Given the description of an element on the screen output the (x, y) to click on. 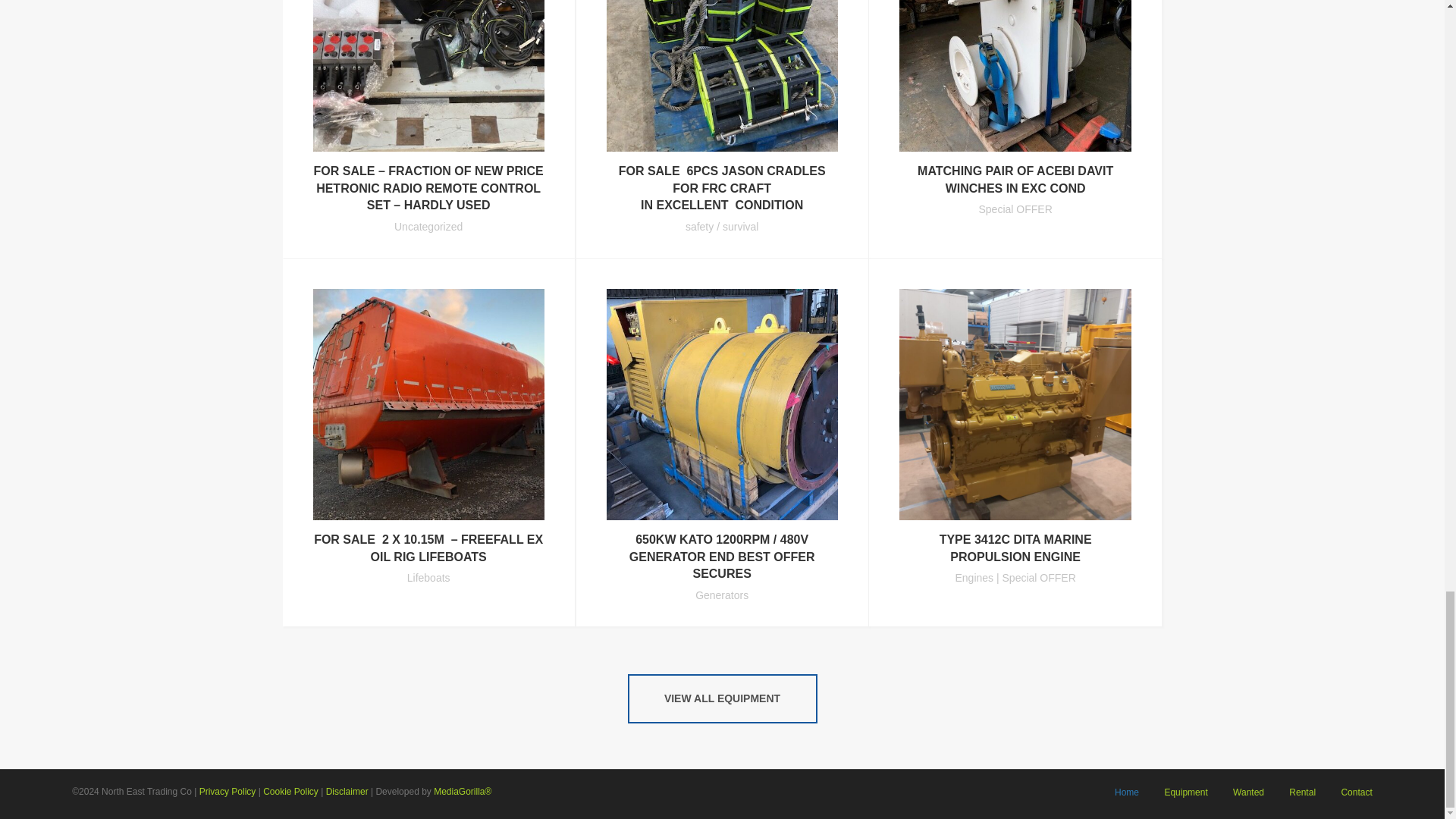
matching pair of ACEBI davit winches in exc cond (1015, 179)
image002 (428, 75)
Uncategorized (428, 226)
image007 (1015, 75)
